Given the description of an element on the screen output the (x, y) to click on. 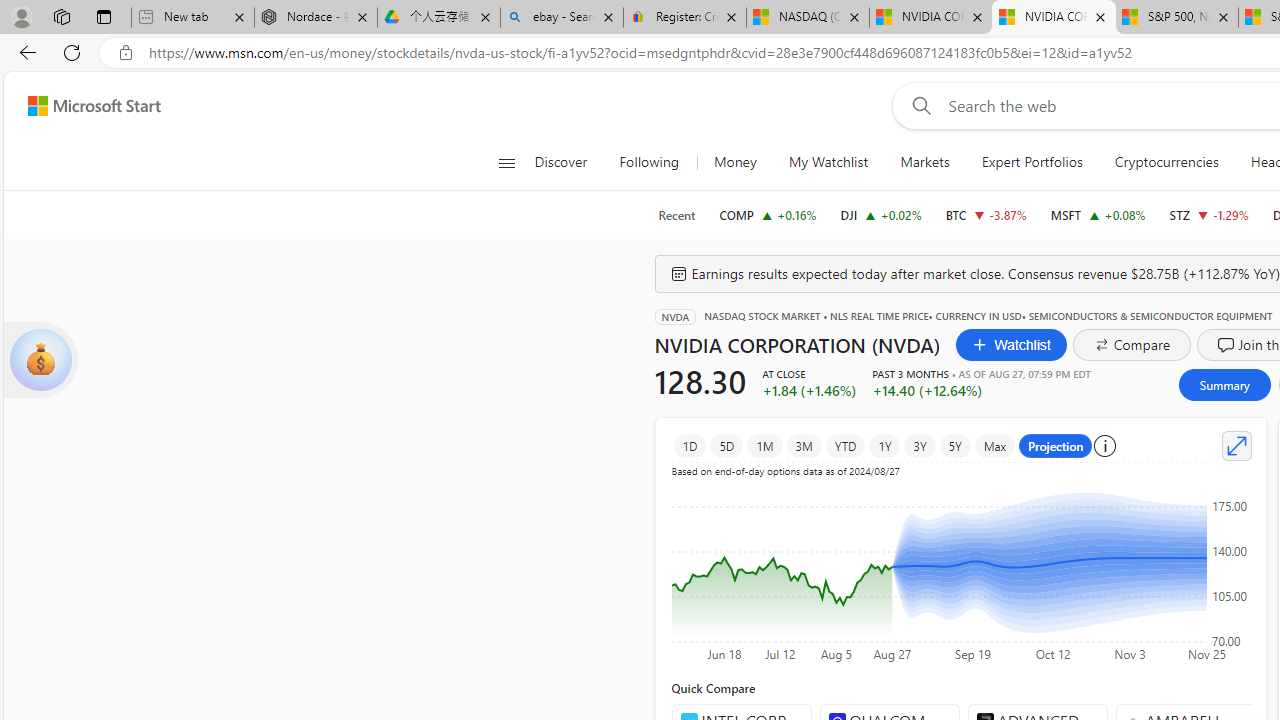
1Y (885, 445)
5D (726, 445)
Watchlist (1011, 344)
Register: Create a personal eBay account (684, 17)
Class: button-glyph (505, 162)
Projection (1055, 445)
MSFT MICROSOFT CORPORATION increase 413.84 +0.35 +0.08% (1098, 214)
